Given the description of an element on the screen output the (x, y) to click on. 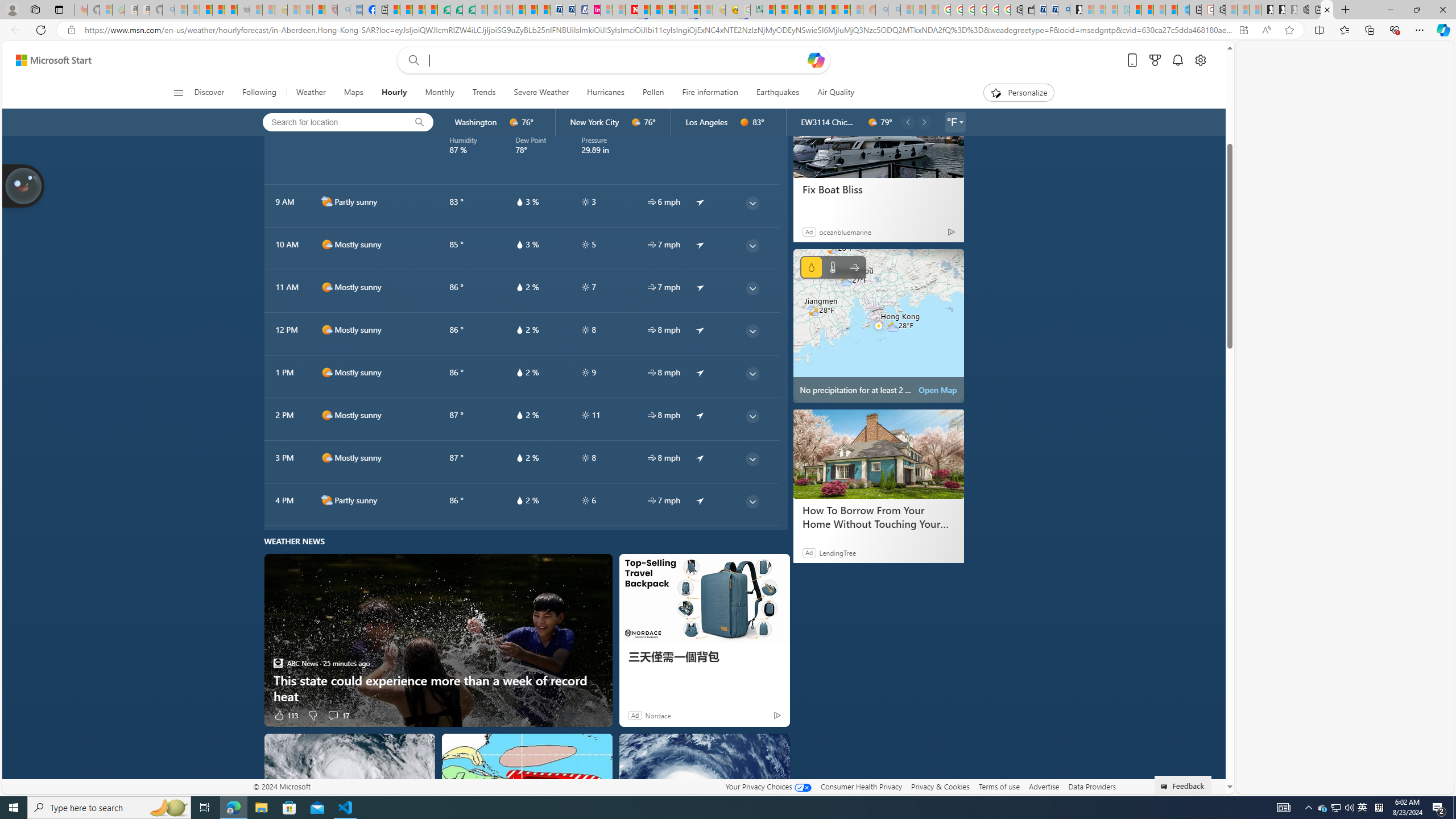
Maps (353, 92)
oceanbluemarine (844, 231)
Kinda Frugal - MSN (832, 9)
locationBar/triangle (961, 122)
